Given the description of an element on the screen output the (x, y) to click on. 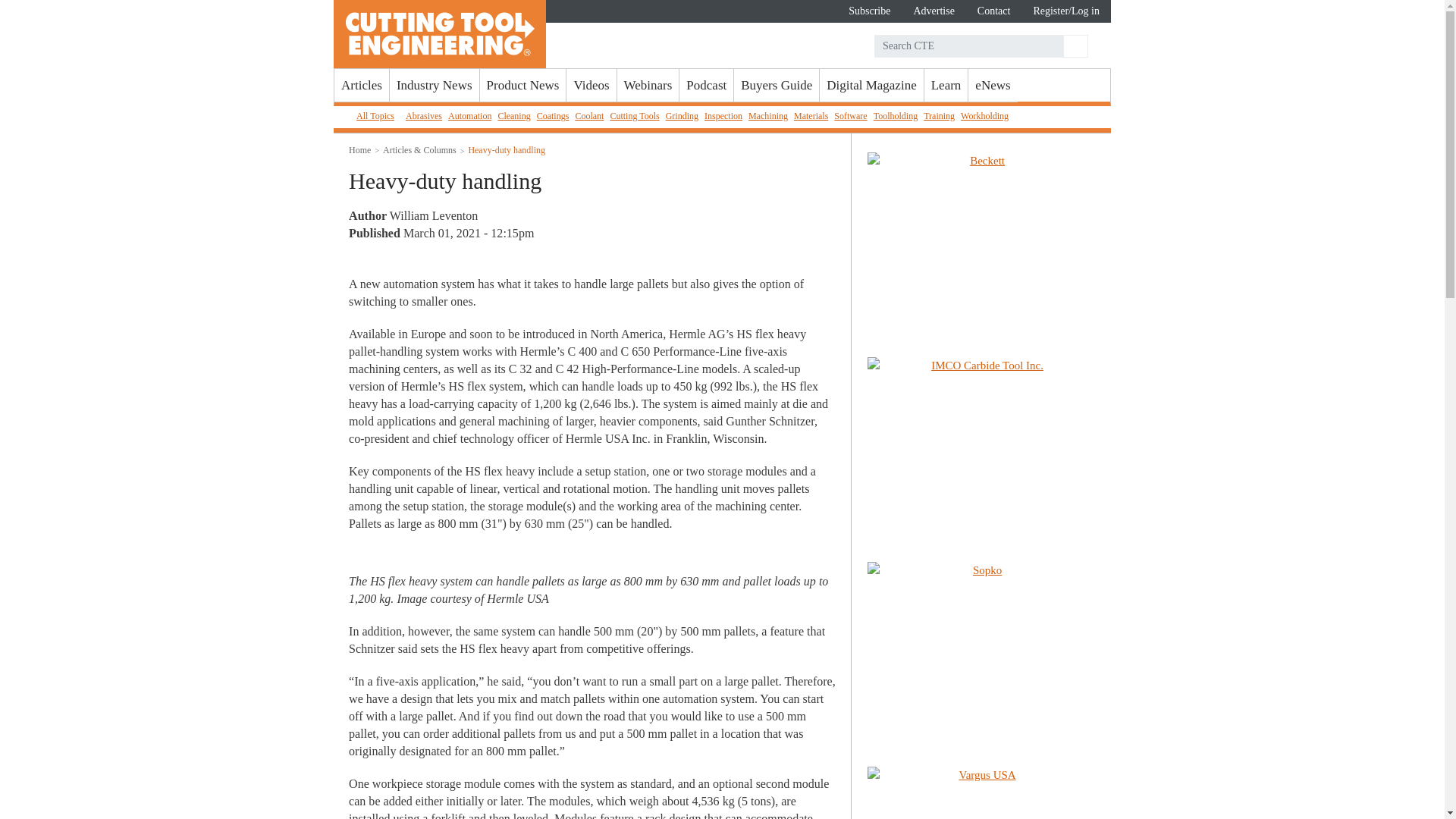
Product News (523, 84)
Subscribe (869, 11)
Podcast (706, 84)
Industry News (434, 84)
Articles (361, 84)
Videos (590, 84)
Buyers Guide (775, 84)
Expand menu Industry News (434, 84)
Home (439, 33)
Contact (994, 11)
Webinars (648, 84)
Expand menu Articles (361, 84)
Advertise (933, 11)
Digital Magazine (871, 84)
eNews (992, 84)
